Given the description of an element on the screen output the (x, y) to click on. 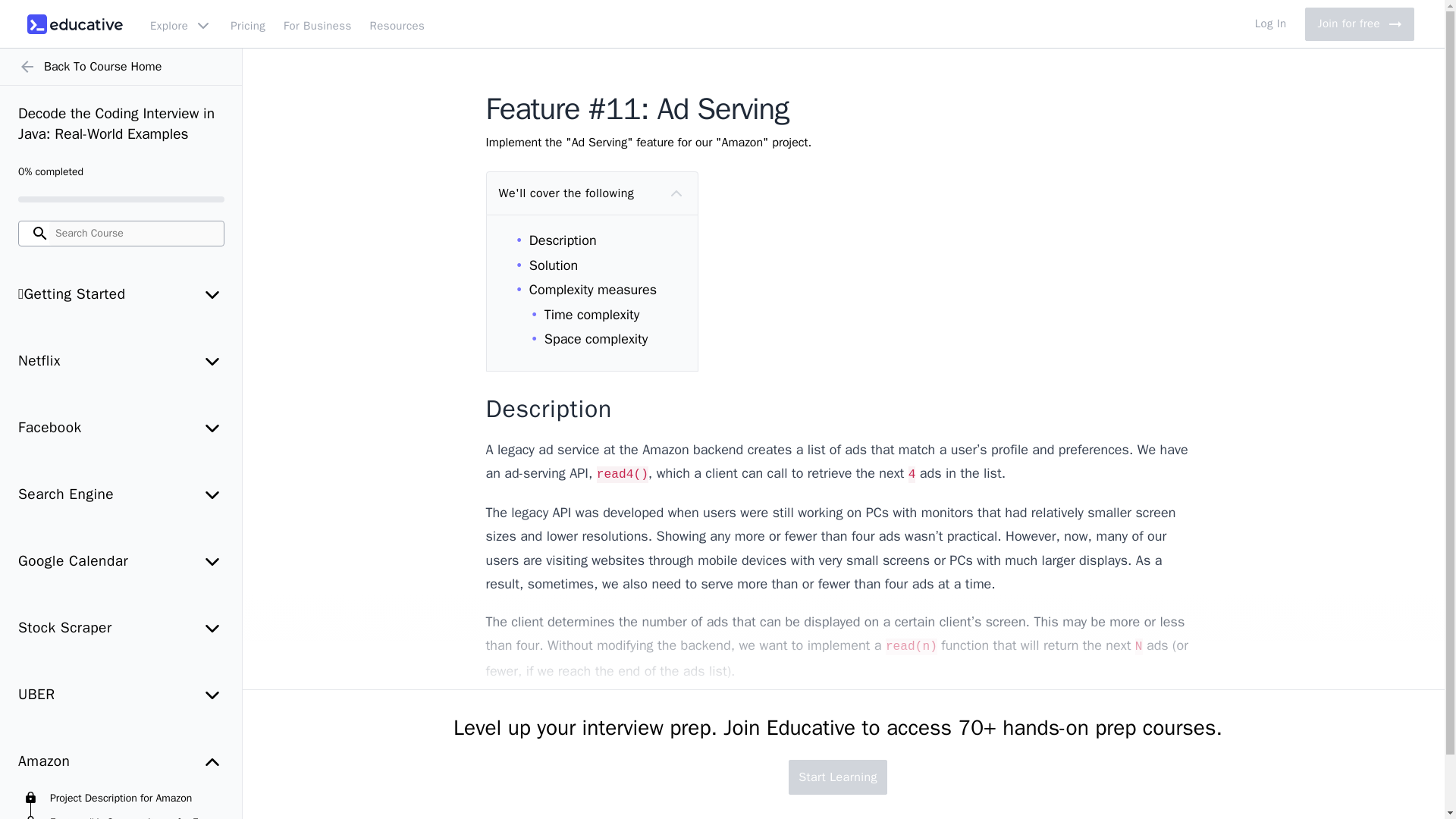
Decode the Coding Interview in Java: Real-World Examples (121, 124)
Log In (1270, 23)
Back To Course Home (121, 66)
educative.io (74, 23)
Resources (397, 23)
For Business (318, 23)
Pricing (1358, 23)
Explore (248, 23)
